Given the description of an element on the screen output the (x, y) to click on. 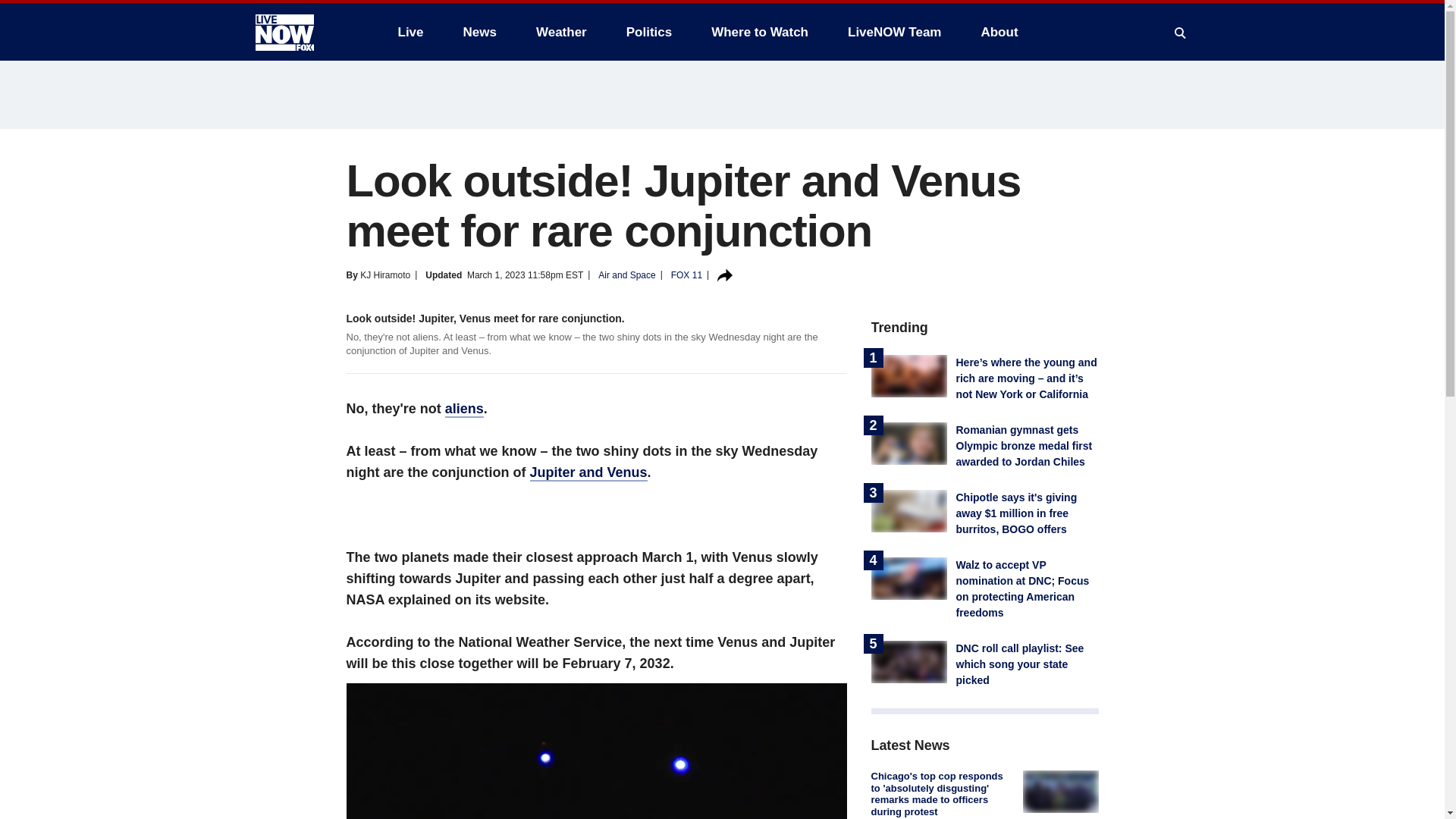
LiveNOW Team (894, 32)
News (479, 32)
Where to Watch (759, 32)
Weather (561, 32)
About (998, 32)
Politics (649, 32)
Live (410, 32)
